Given the description of an element on the screen output the (x, y) to click on. 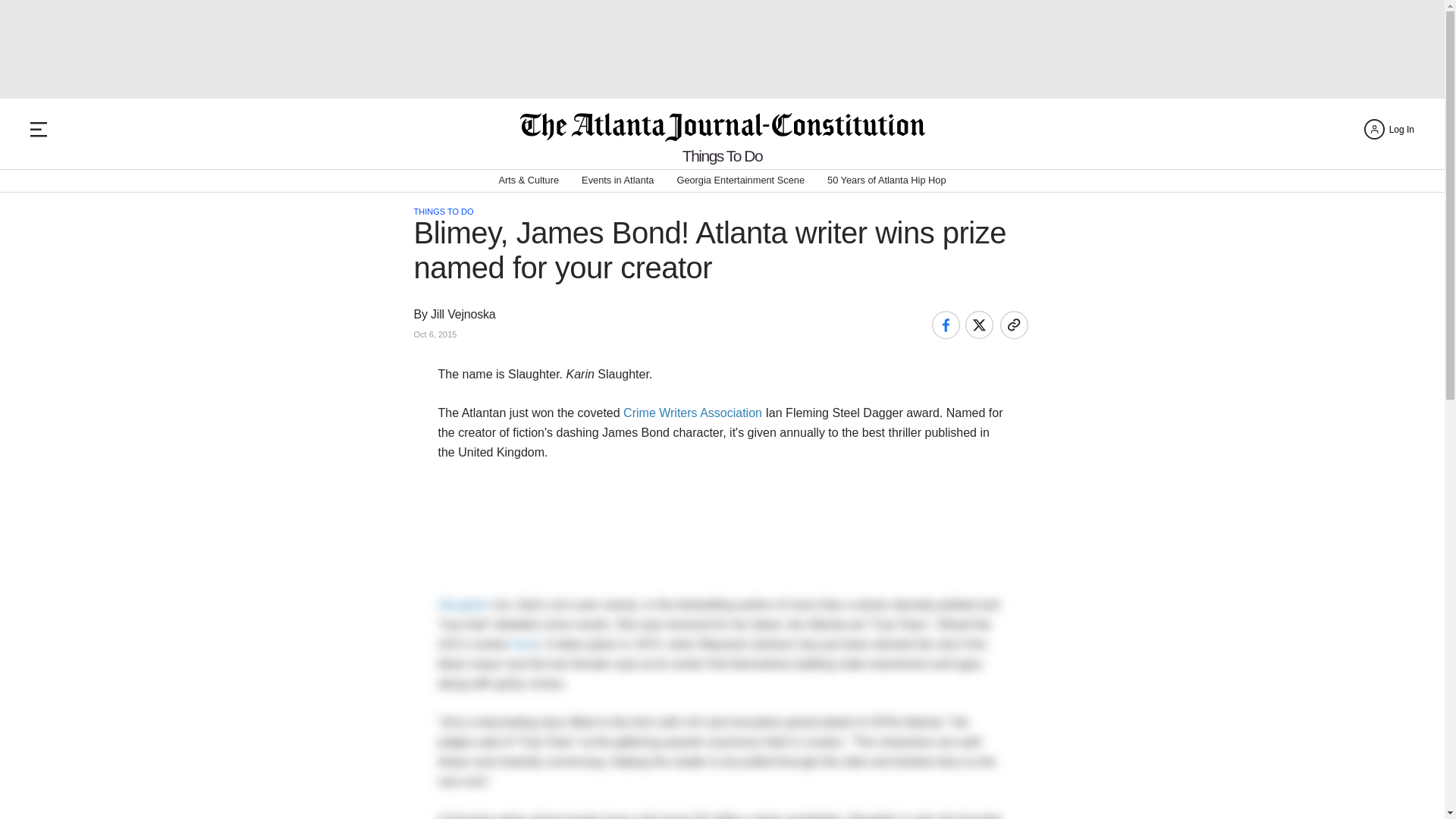
Events in Atlanta (616, 180)
Georgia Entertainment Scene (741, 180)
Things To Do (721, 155)
50 Years of Atlanta Hip Hop (886, 180)
